Given the description of an element on the screen output the (x, y) to click on. 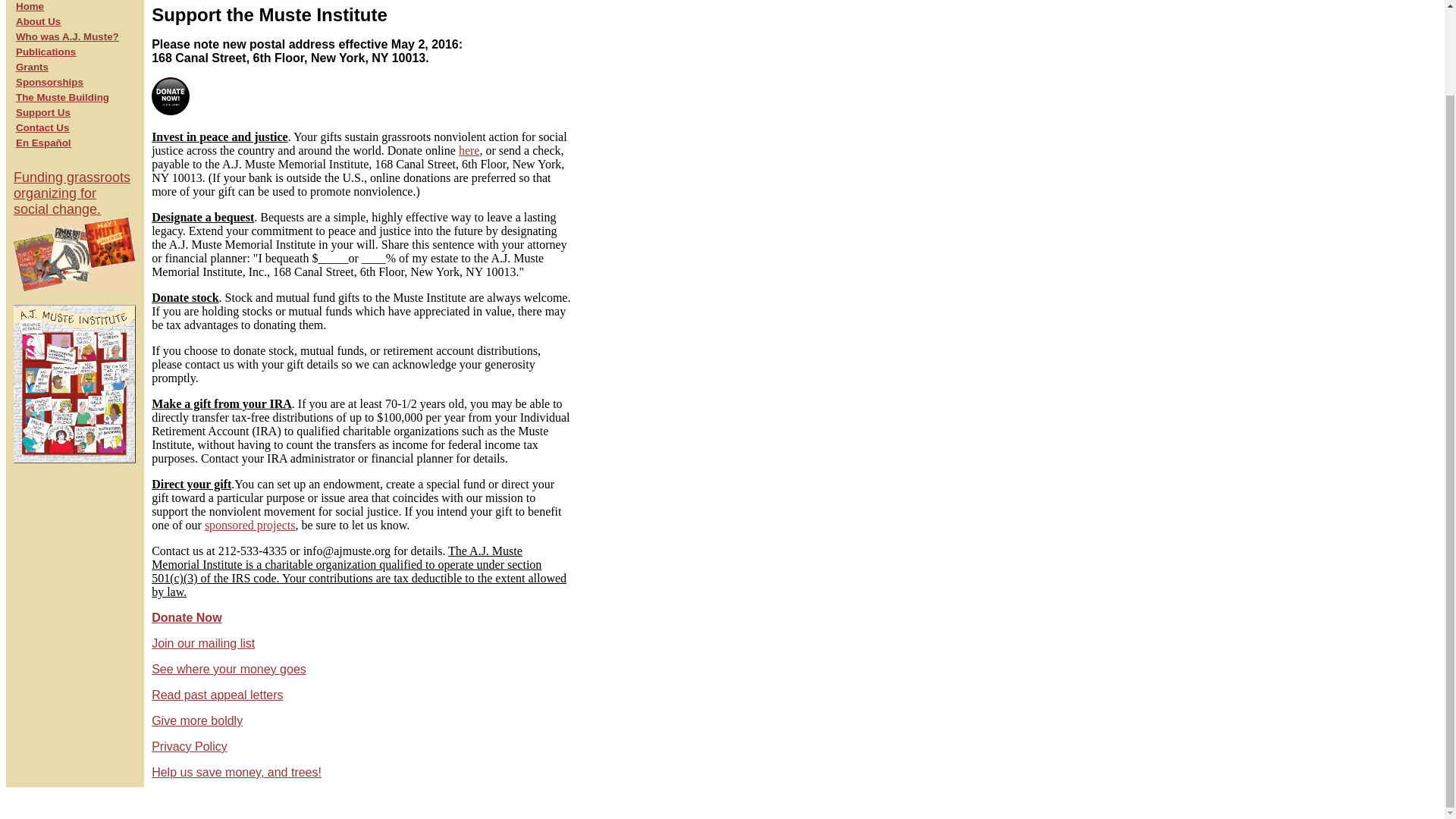
Grants (32, 66)
Sponsorships (49, 81)
Who was A.J. Muste? (74, 231)
The Muste Building (67, 36)
Support Us (62, 97)
Donate Now (42, 112)
here (186, 617)
See where your money goes (469, 150)
sponsored projects (228, 668)
Help us save money, and trees! (250, 524)
About Us (236, 771)
Give more boldly (38, 21)
Join our mailing list (197, 720)
Contact Us (202, 643)
